Given the description of an element on the screen output the (x, y) to click on. 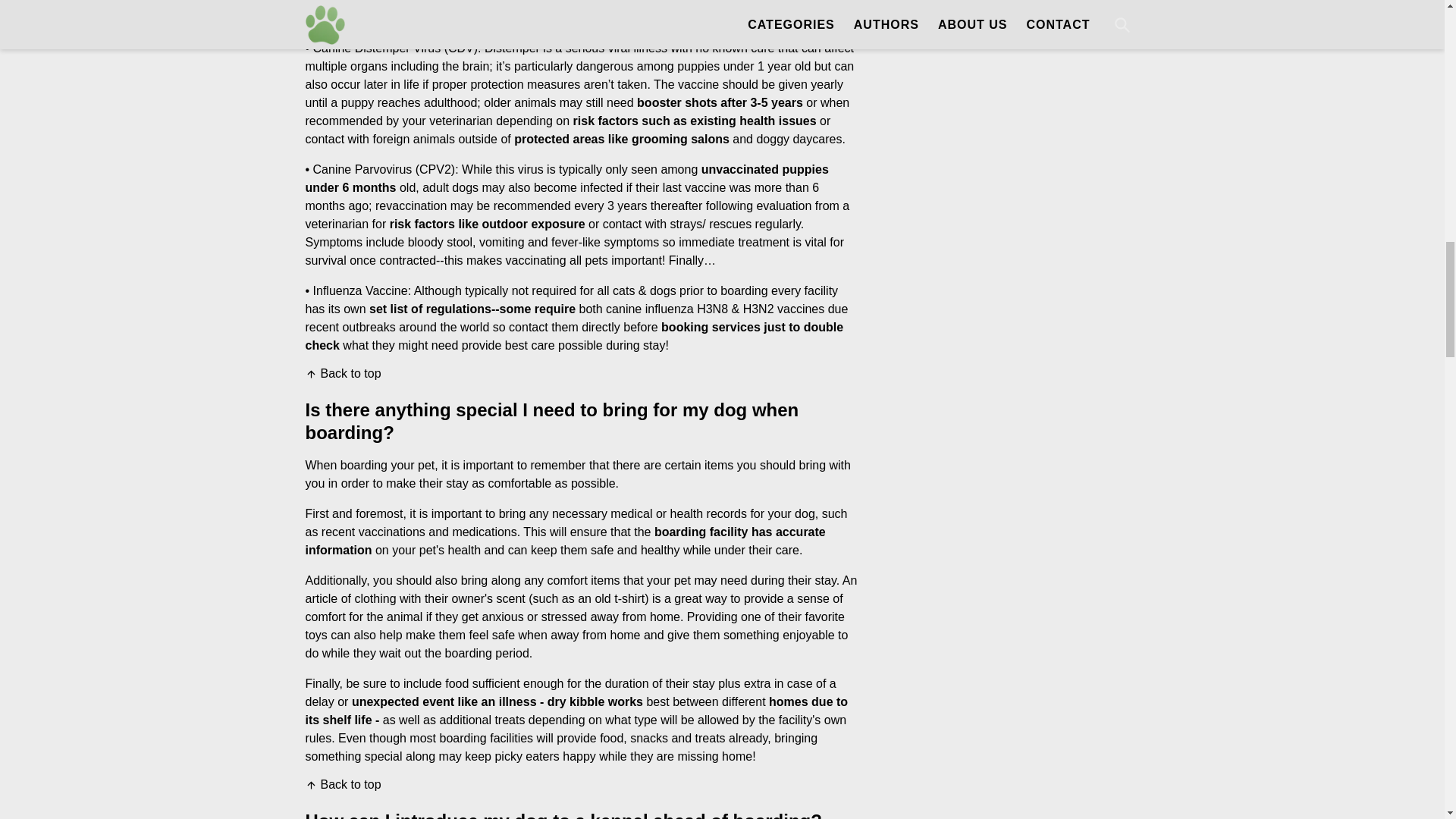
Back to top (342, 373)
Back to top (342, 784)
